Given the description of an element on the screen output the (x, y) to click on. 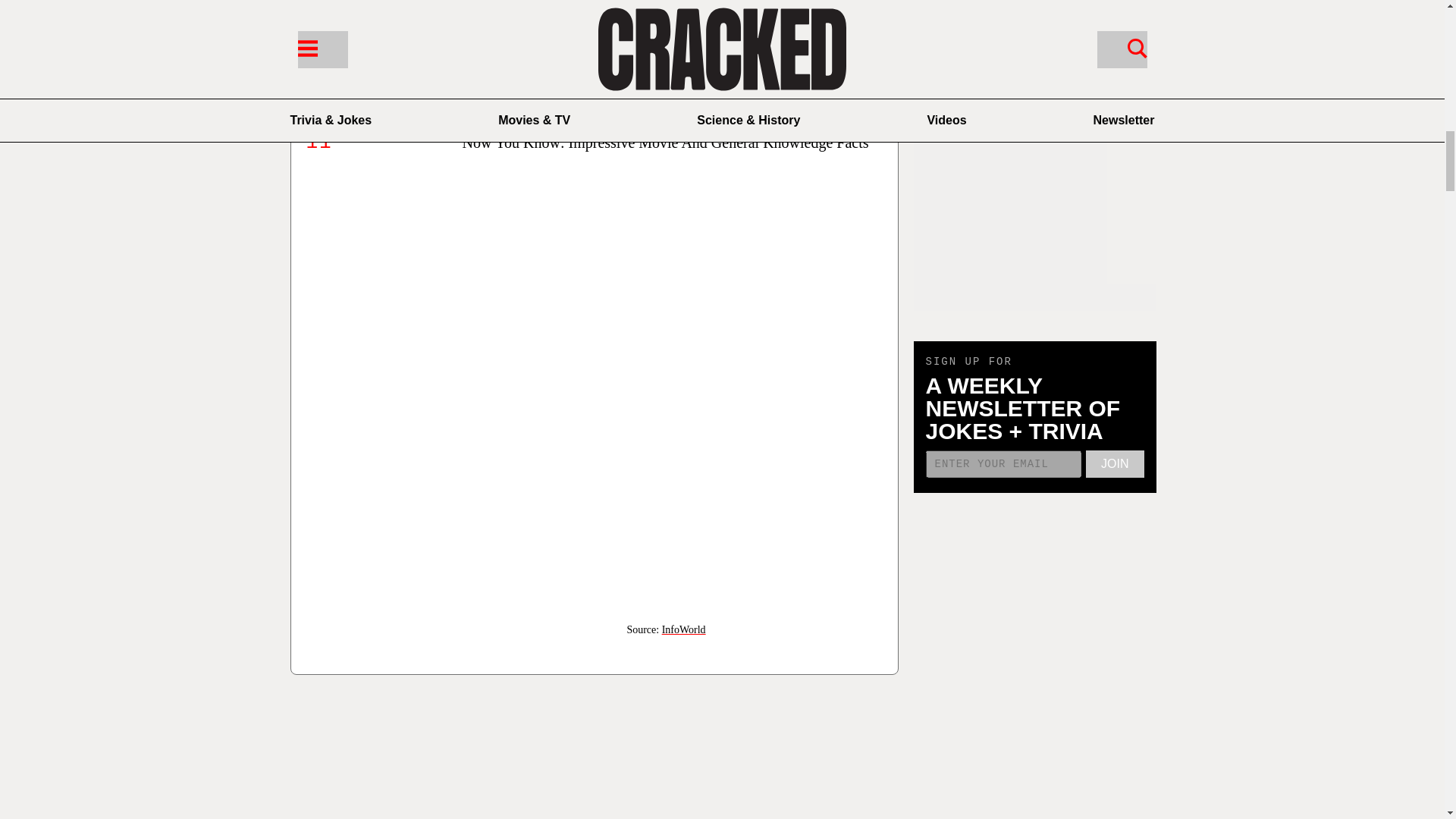
Showbiz Junkies (683, 52)
InfoWorld (684, 629)
